Given the description of an element on the screen output the (x, y) to click on. 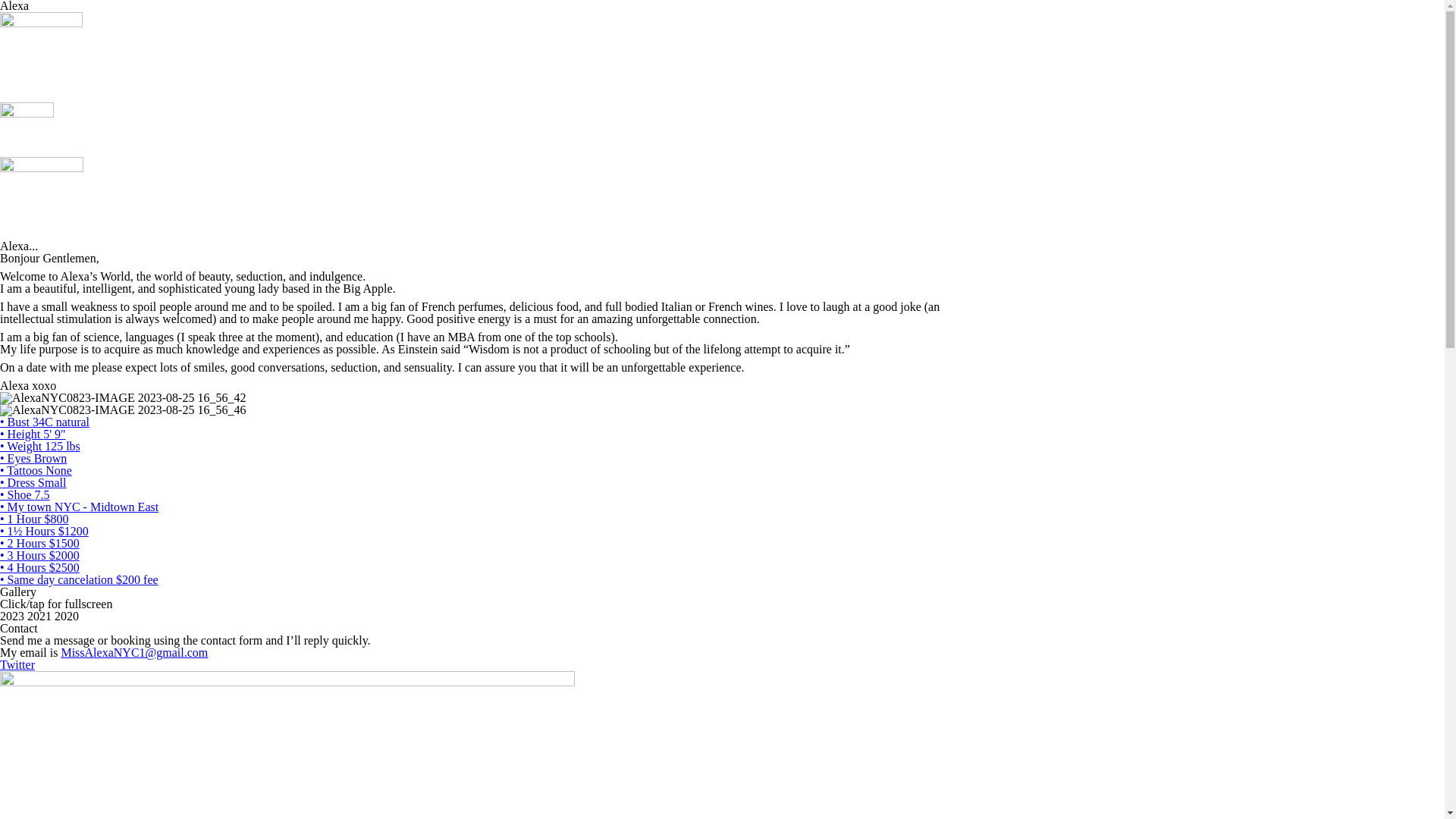
AlexaNYC0823-IMAGE 2023-08-25 16_56_42 Element type: hover (122, 398)
MissAlexaNYC1@gmail.com Element type: text (133, 652)
2021 Element type: text (40, 615)
AlexaNYC0823-IMAGE 2023-08-25 16_56_46 Element type: hover (122, 410)
2020 Element type: text (66, 615)
Twitter Element type: text (17, 664)
2023 Element type: text (13, 615)
